Given the description of an element on the screen output the (x, y) to click on. 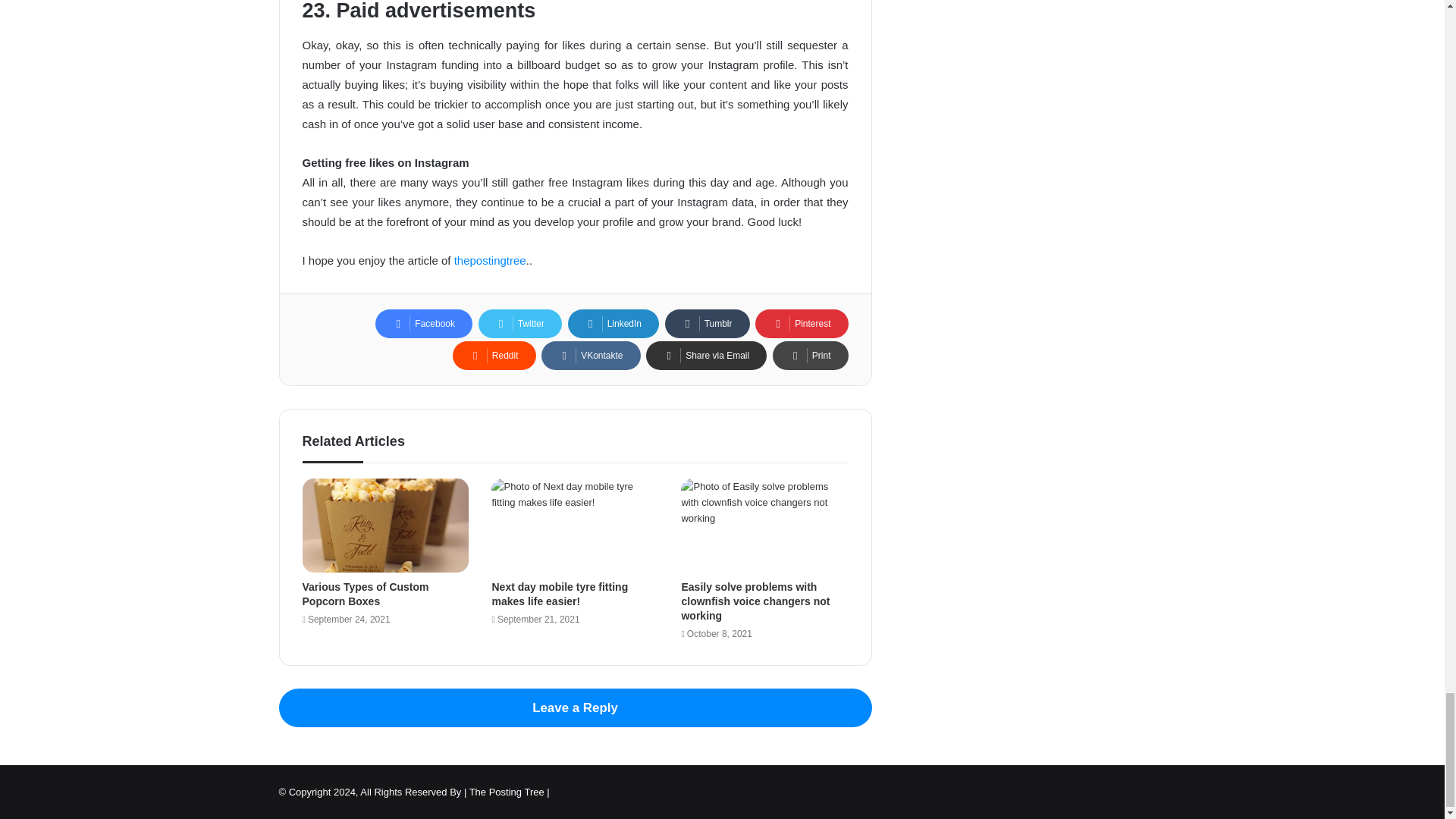
Pinterest (801, 323)
Pinterest (801, 323)
Facebook (423, 323)
Tumblr (707, 323)
Print (810, 355)
Reddit (493, 355)
Facebook (423, 323)
thepostingtree (489, 259)
VKontakte (590, 355)
LinkedIn (613, 323)
